Given the description of an element on the screen output the (x, y) to click on. 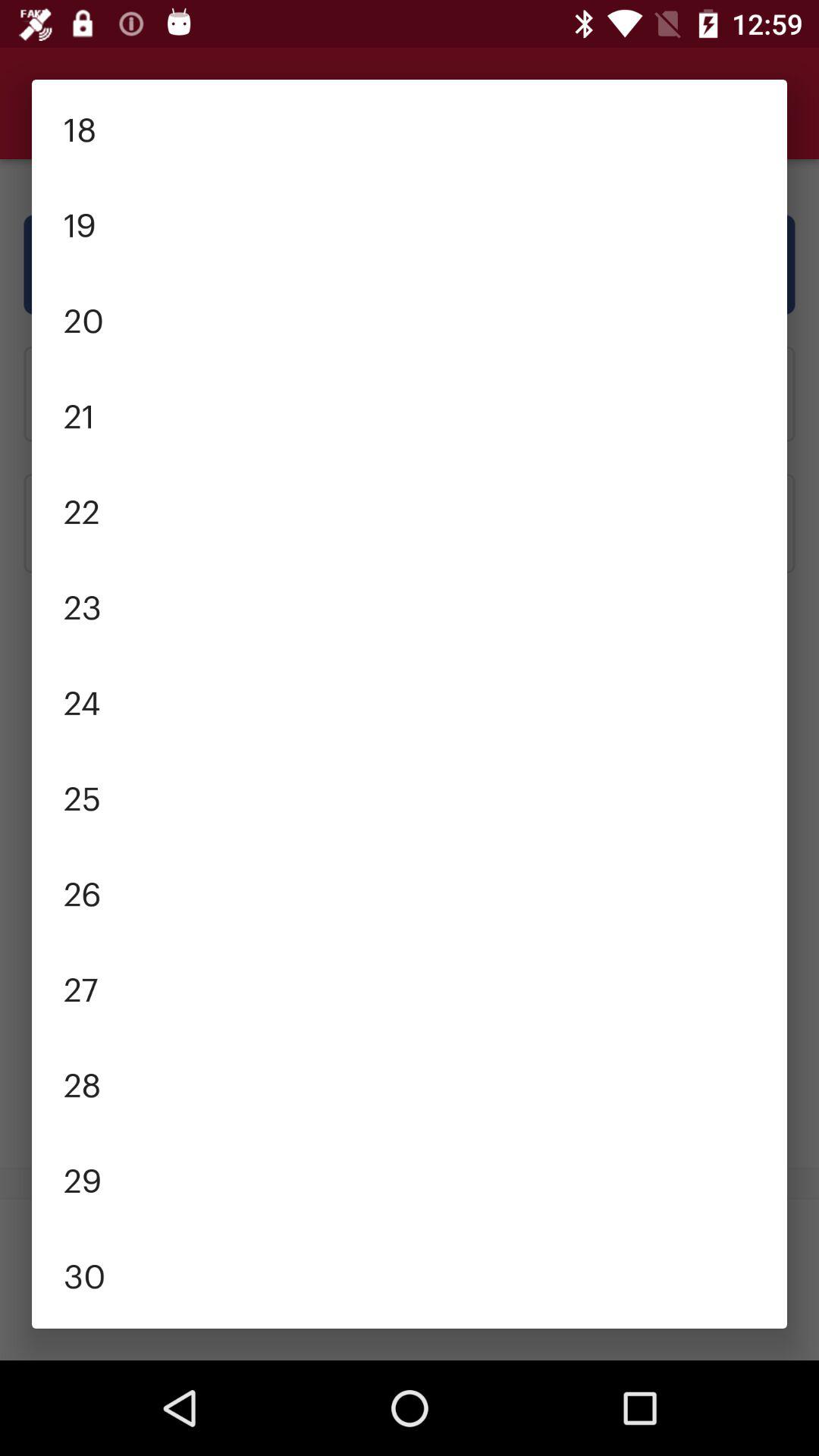
turn on 31 (409, 1324)
